Given the description of an element on the screen output the (x, y) to click on. 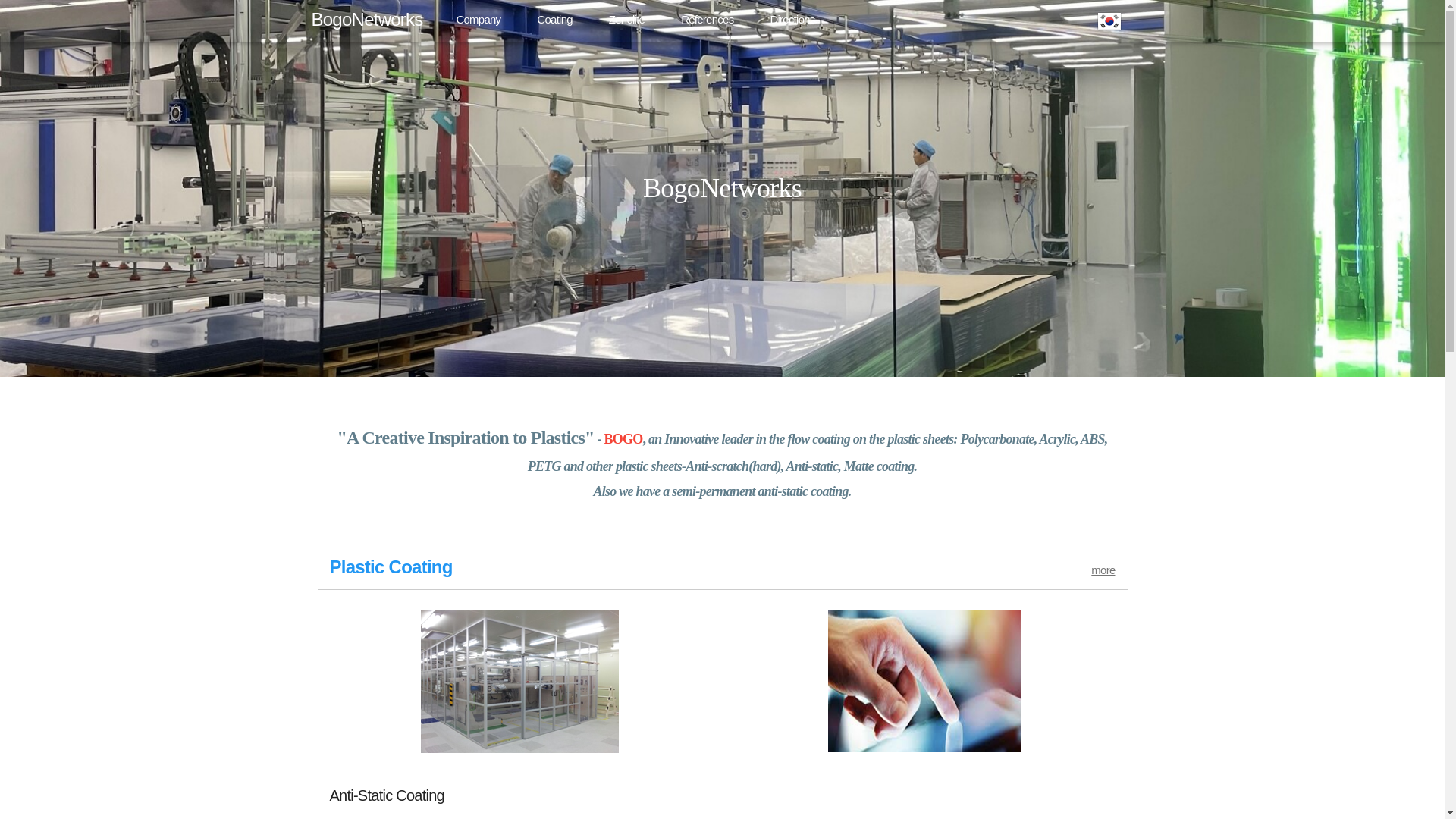
BogoNetworks   (371, 19)
Company (478, 19)
more (1102, 569)
Directions (791, 19)
References (706, 19)
Coating (553, 19)
Zenolite (626, 19)
